Given the description of an element on the screen output the (x, y) to click on. 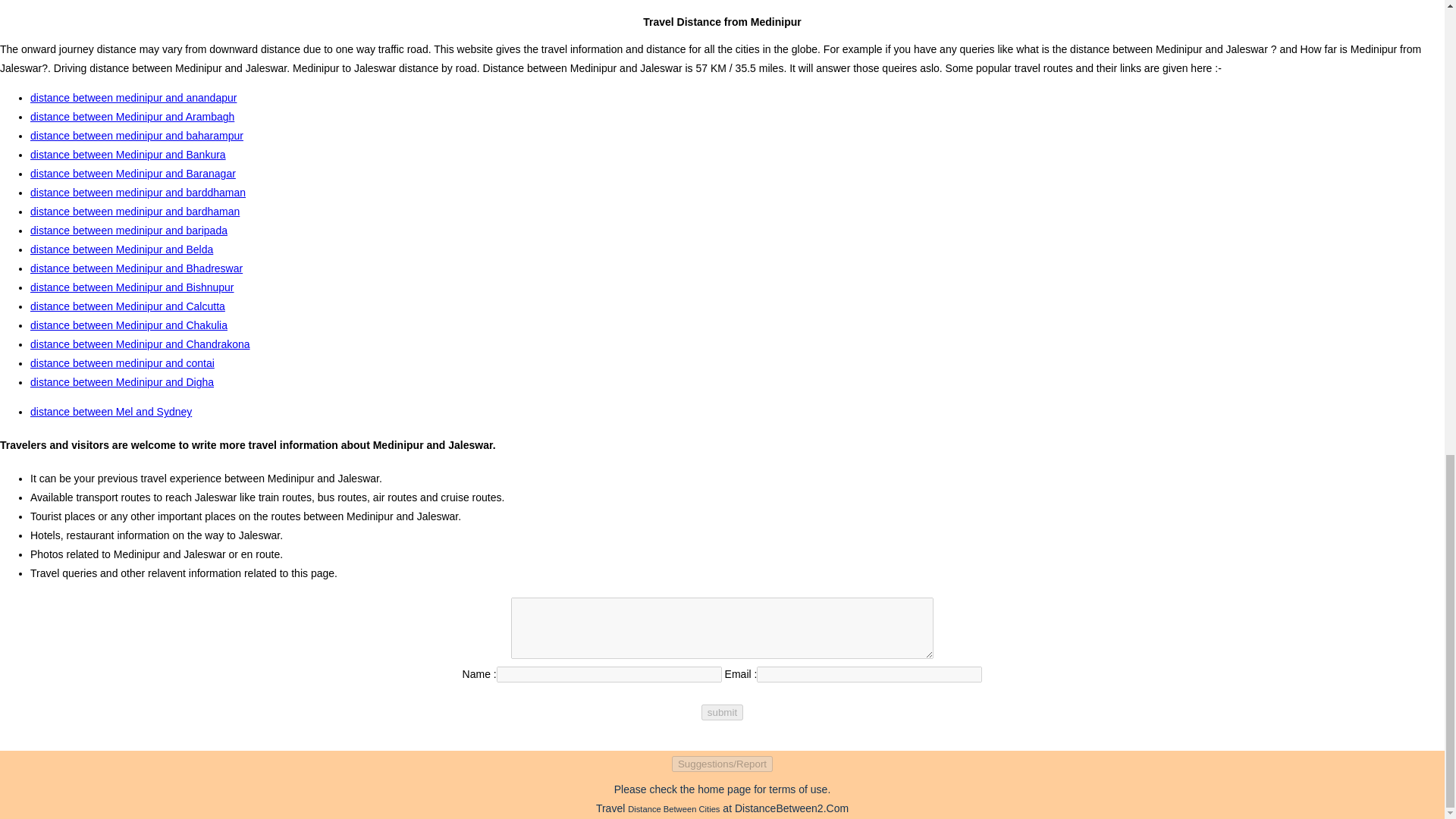
distance between Medinipur and Baranagar (132, 173)
distance between medinipur and bardhaman (135, 211)
distance between medinipur and contai (122, 363)
distance between Medinipur and Chakulia (128, 325)
distance between Medinipur and Bhadreswar (136, 268)
distance between Mel and Sydney (111, 411)
distance between Medinipur and Bishnupur (132, 287)
submit (721, 712)
distance between medinipur and anandapur (132, 97)
distance between Medinipur and Bankura (127, 154)
distance between Medinipur and Calcutta (127, 306)
Distance Between Cities (673, 809)
distance between Medinipur and Chandrakona (140, 344)
distance between medinipur and baripada (128, 230)
submit (721, 712)
